Given the description of an element on the screen output the (x, y) to click on. 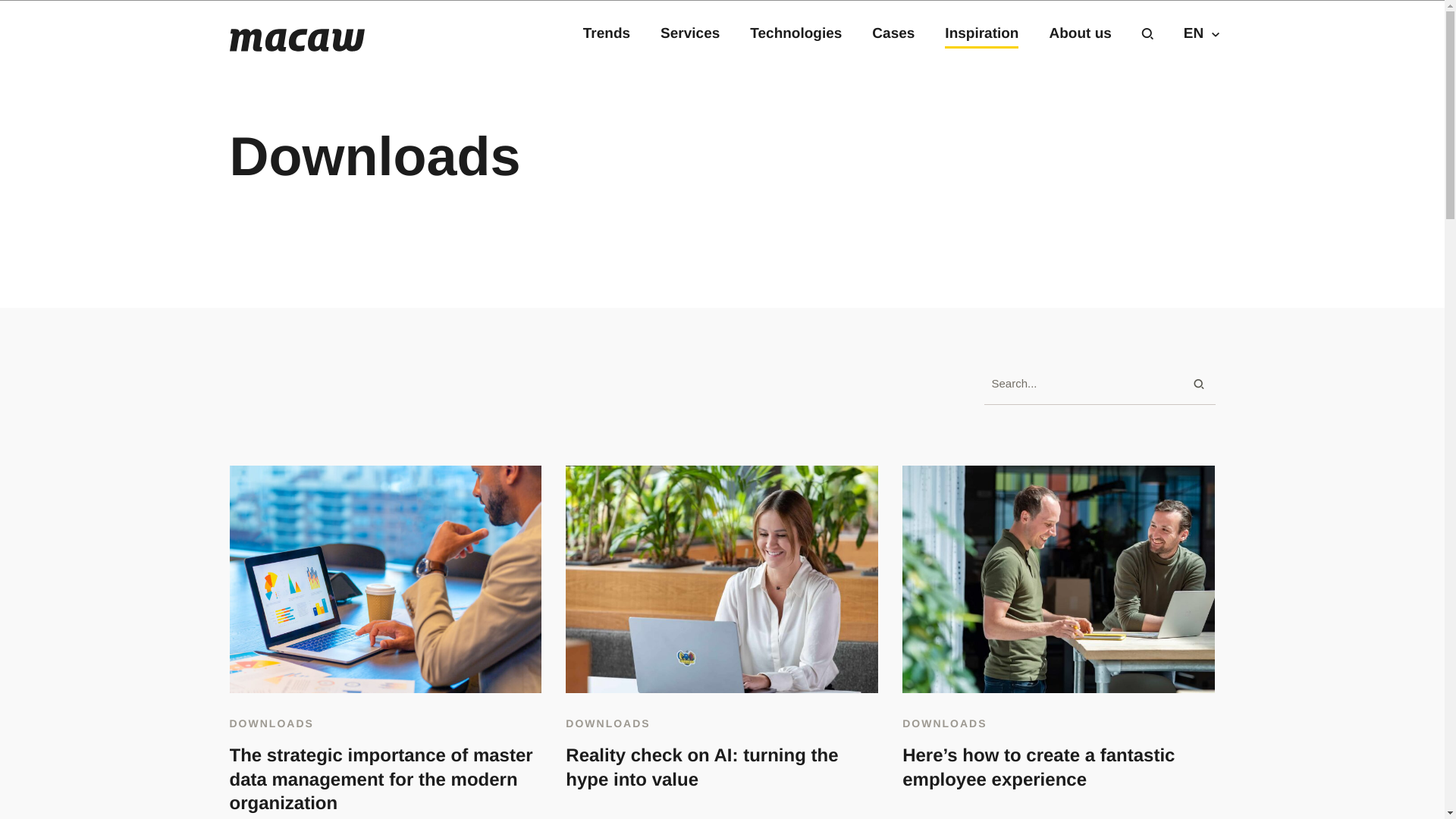
Services (690, 34)
Cases (893, 34)
Technologies (795, 34)
Trends (606, 34)
Inspiration (980, 34)
About us (1079, 34)
EN (1199, 33)
